Given the description of an element on the screen output the (x, y) to click on. 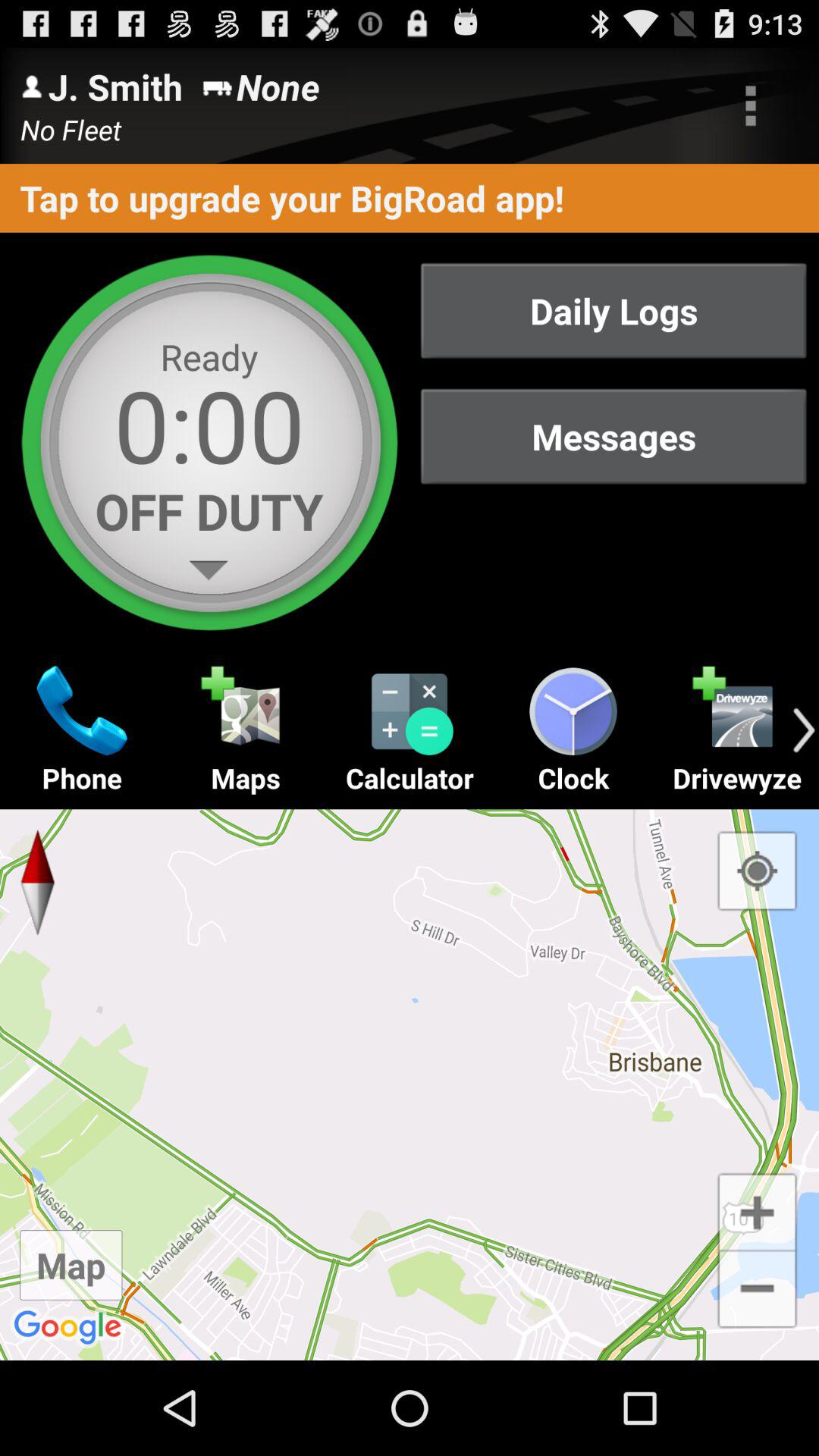
tap messages item (613, 436)
